Given the description of an element on the screen output the (x, y) to click on. 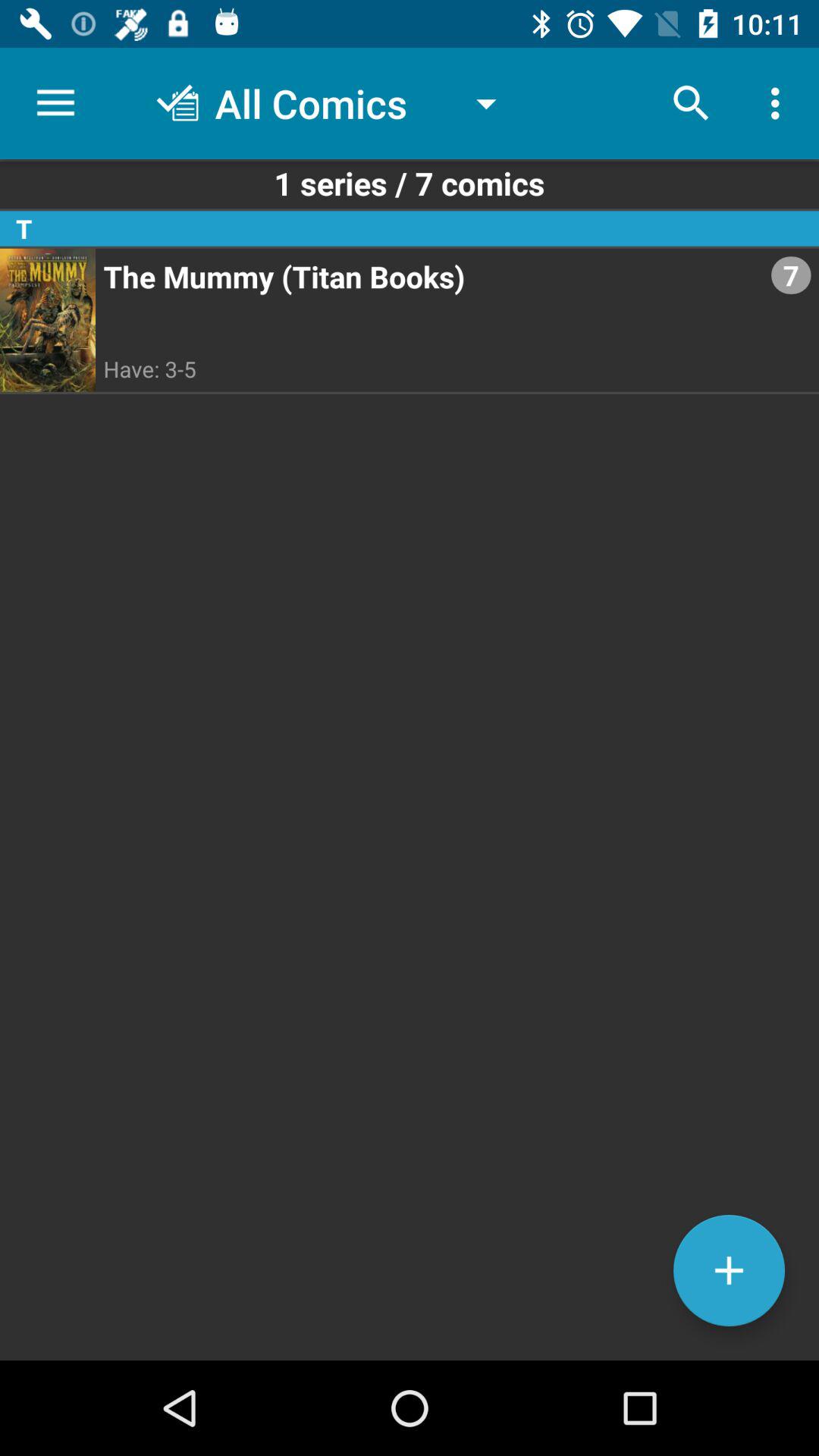
turn off the icon next to all comics item (691, 103)
